Given the description of an element on the screen output the (x, y) to click on. 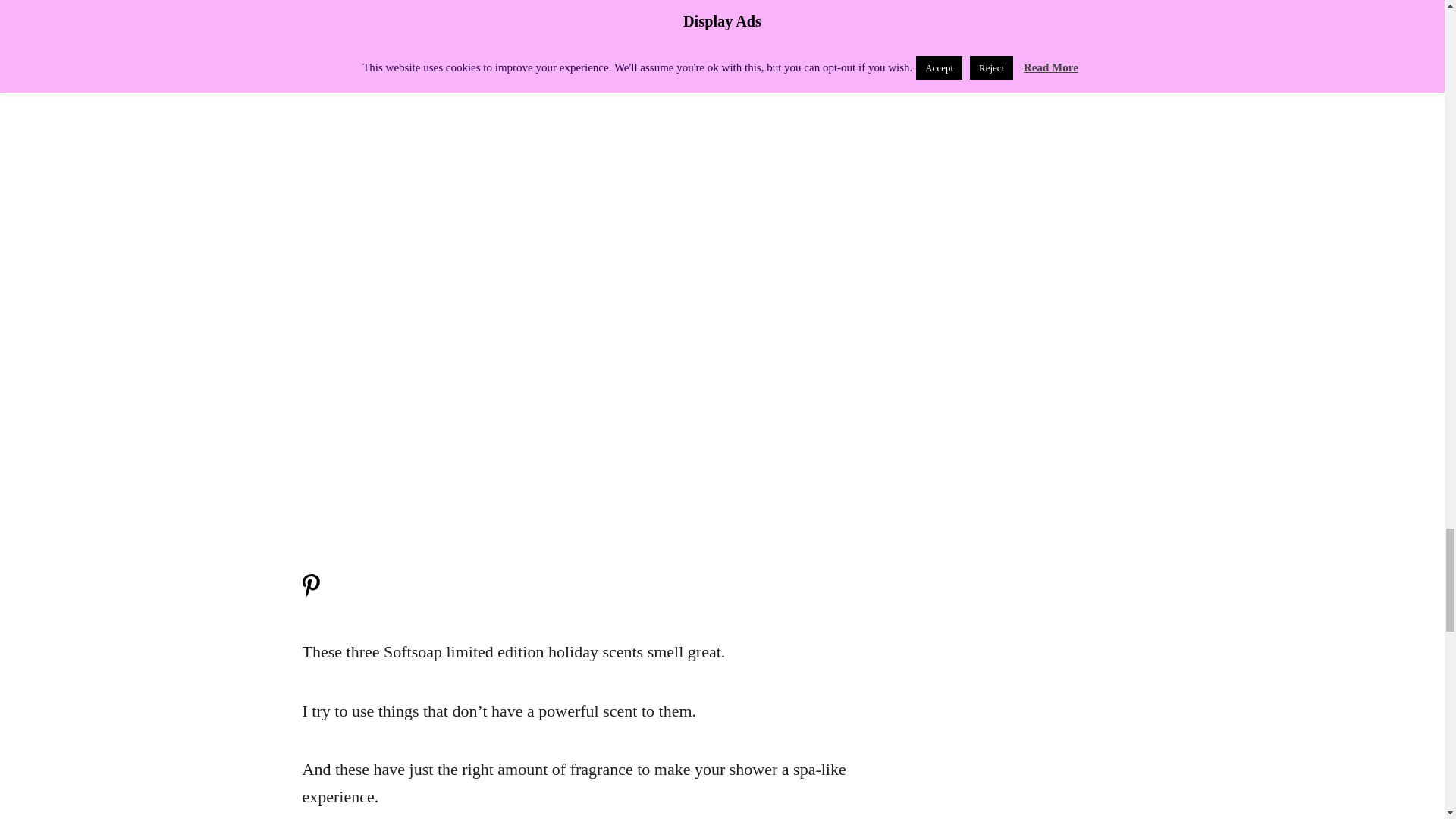
Pin Me! (309, 592)
